Given the description of an element on the screen output the (x, y) to click on. 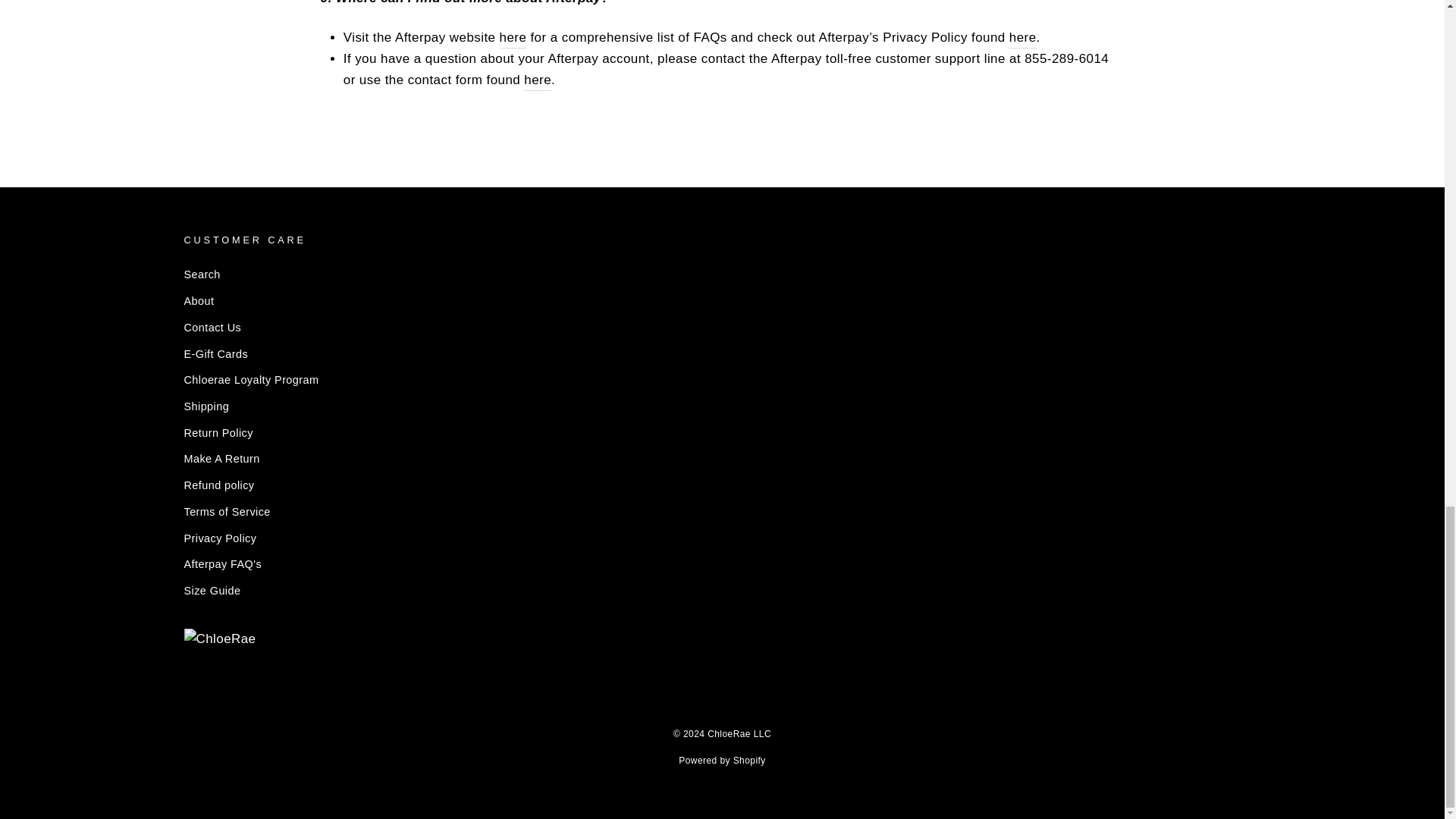
Afterpay Privacy Policy  (1022, 37)
Afterpay Help (537, 79)
Afterpay Help (513, 37)
